Given the description of an element on the screen output the (x, y) to click on. 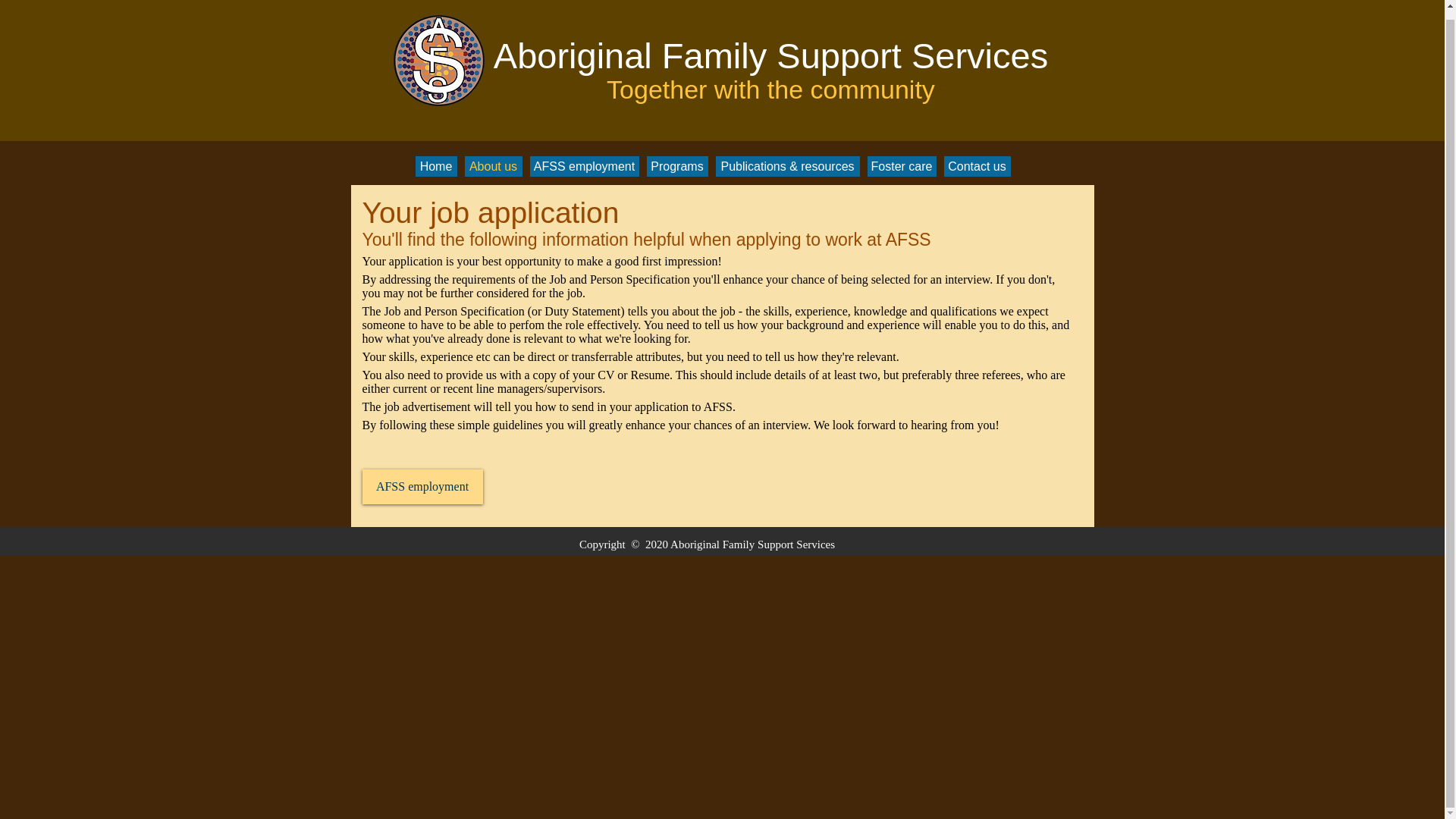
Foster care (901, 166)
AFSS employment (584, 166)
AFSS employment (422, 486)
Home (435, 166)
About us (492, 166)
Programs (676, 166)
